Given the description of an element on the screen output the (x, y) to click on. 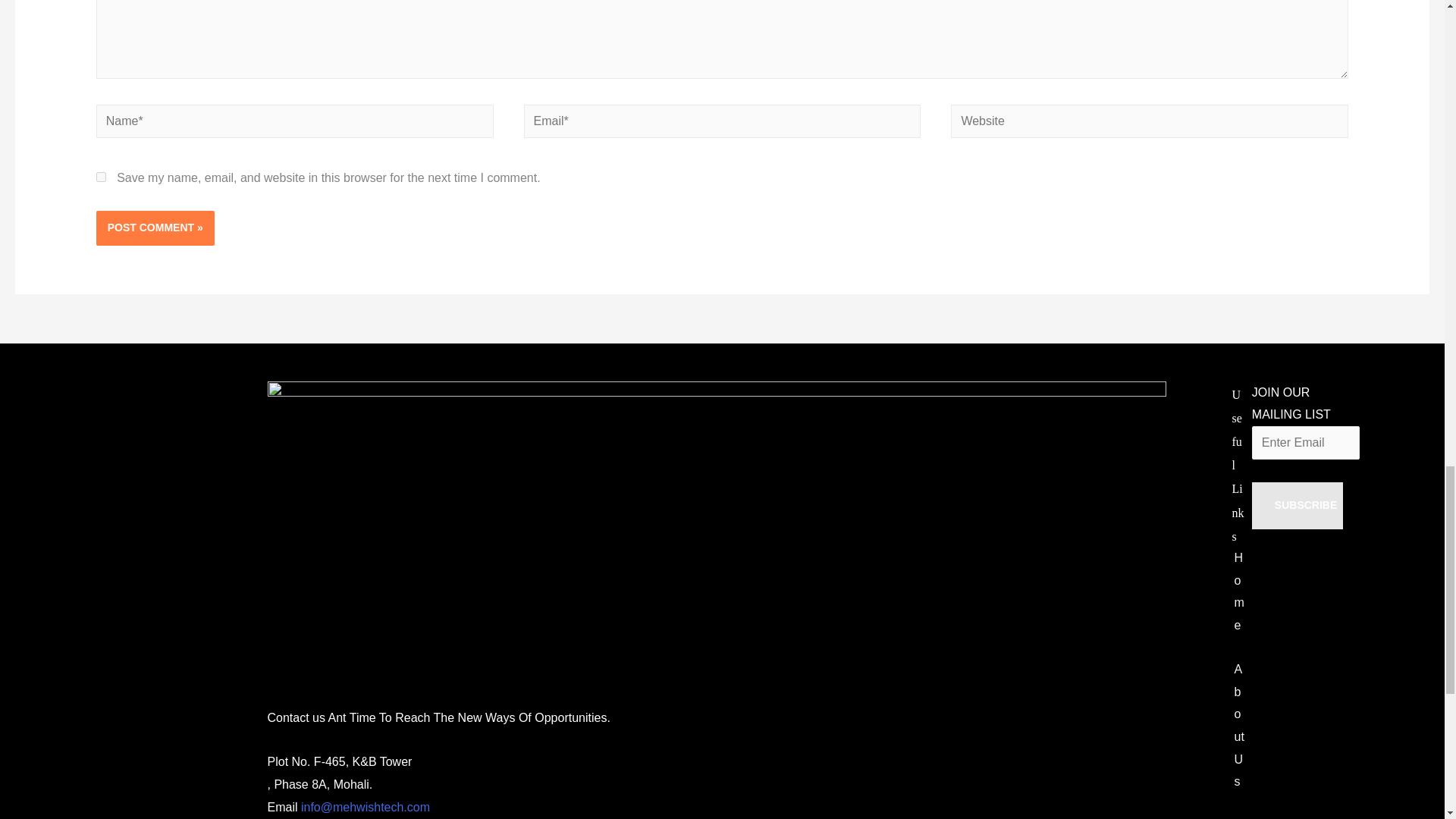
subscribe (1297, 505)
yes (101, 176)
subscribe (1297, 505)
